Given the description of an element on the screen output the (x, y) to click on. 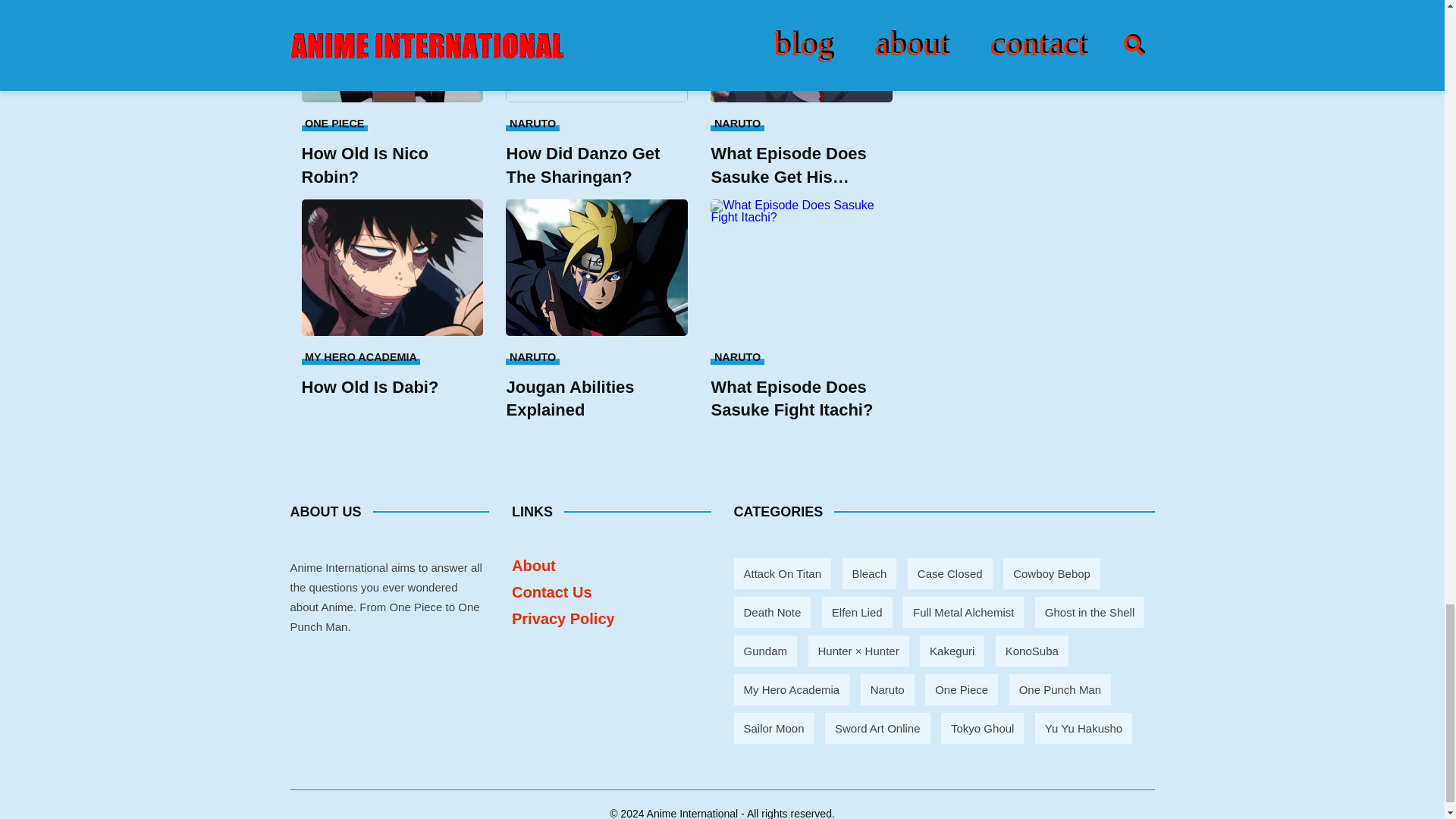
NARUTO (532, 123)
Jougan Abilities Explained (596, 267)
What Episode does Sasuke get his Rinnengan? (801, 51)
What Episode Does Sasuke Get His Rinnengan? (801, 165)
Jougan Abilities Explained (596, 398)
How Did Danzo Get The Sharingan? (596, 165)
ONE PIECE (334, 123)
NARUTO (532, 356)
How old is Nico Robin? (392, 51)
How Old Is Dabi? (392, 386)
